Given the description of an element on the screen output the (x, y) to click on. 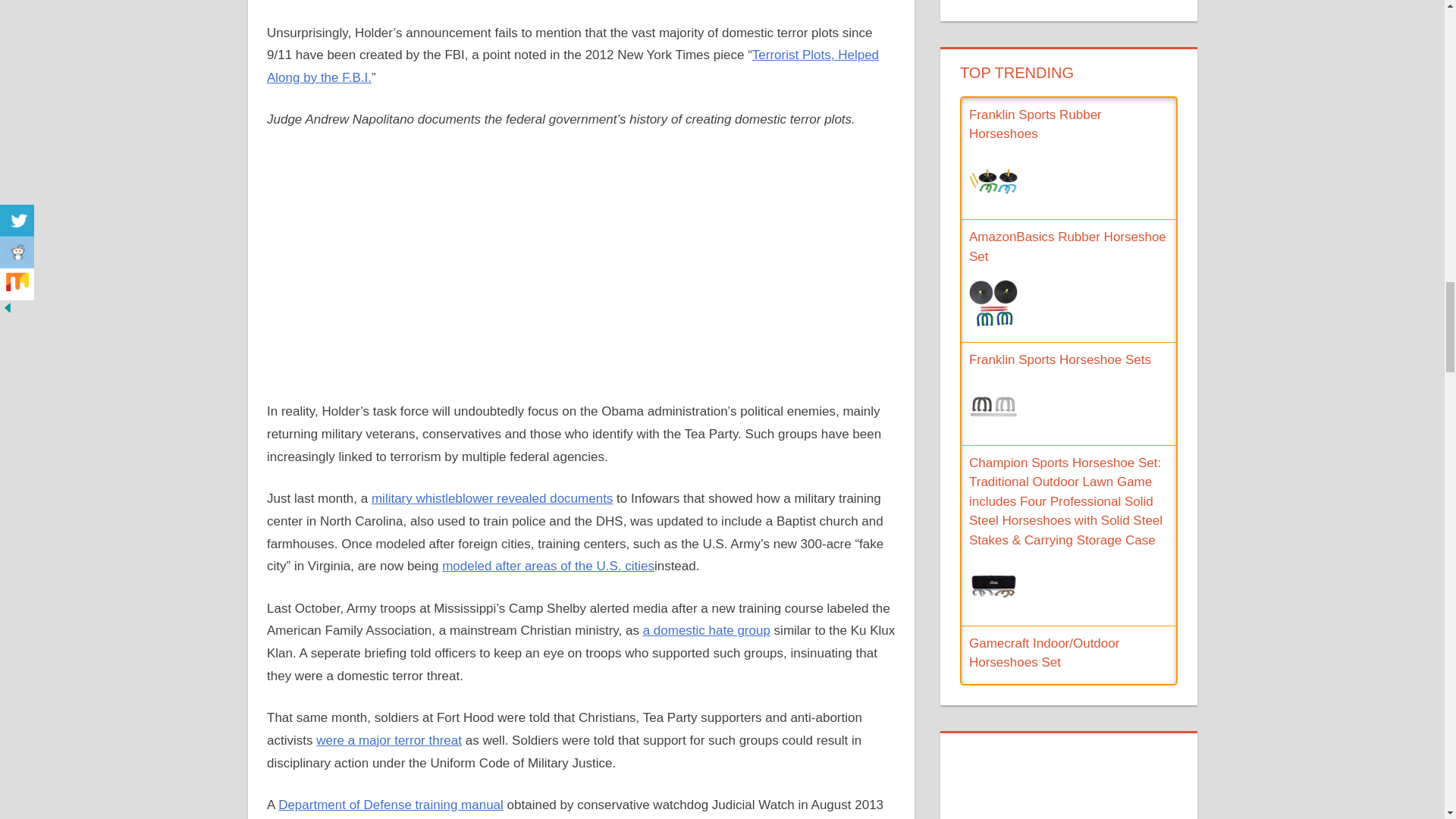
AmazonBasics Rubber Horseshoe Set (1067, 246)
Franklin Sports Rubber Horseshoes (1035, 124)
Department of Defense training manual (390, 804)
were a major terror threat (388, 740)
modeled after areas of the U.S. cities (547, 565)
Franklin Sports Horseshoe Sets (1060, 359)
a domestic hate group (706, 630)
Terrorist Plots, Helped Along by the F.B.I. (572, 66)
military whistleblower revealed documents (491, 498)
